Given the description of an element on the screen output the (x, y) to click on. 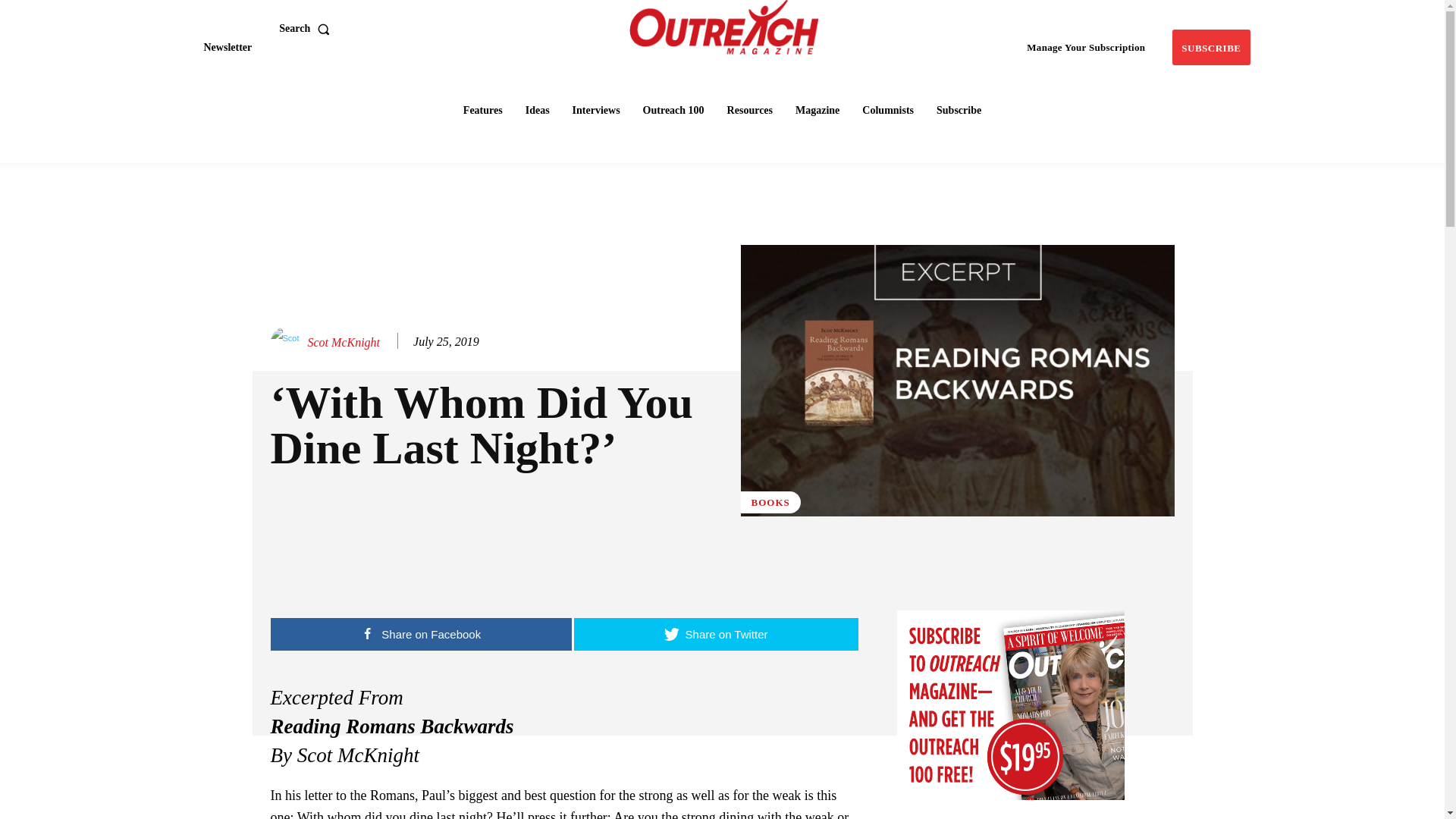
Newsletter (226, 47)
Manage Your Subscription (1085, 47)
Subscribe (1210, 47)
